Given the description of an element on the screen output the (x, y) to click on. 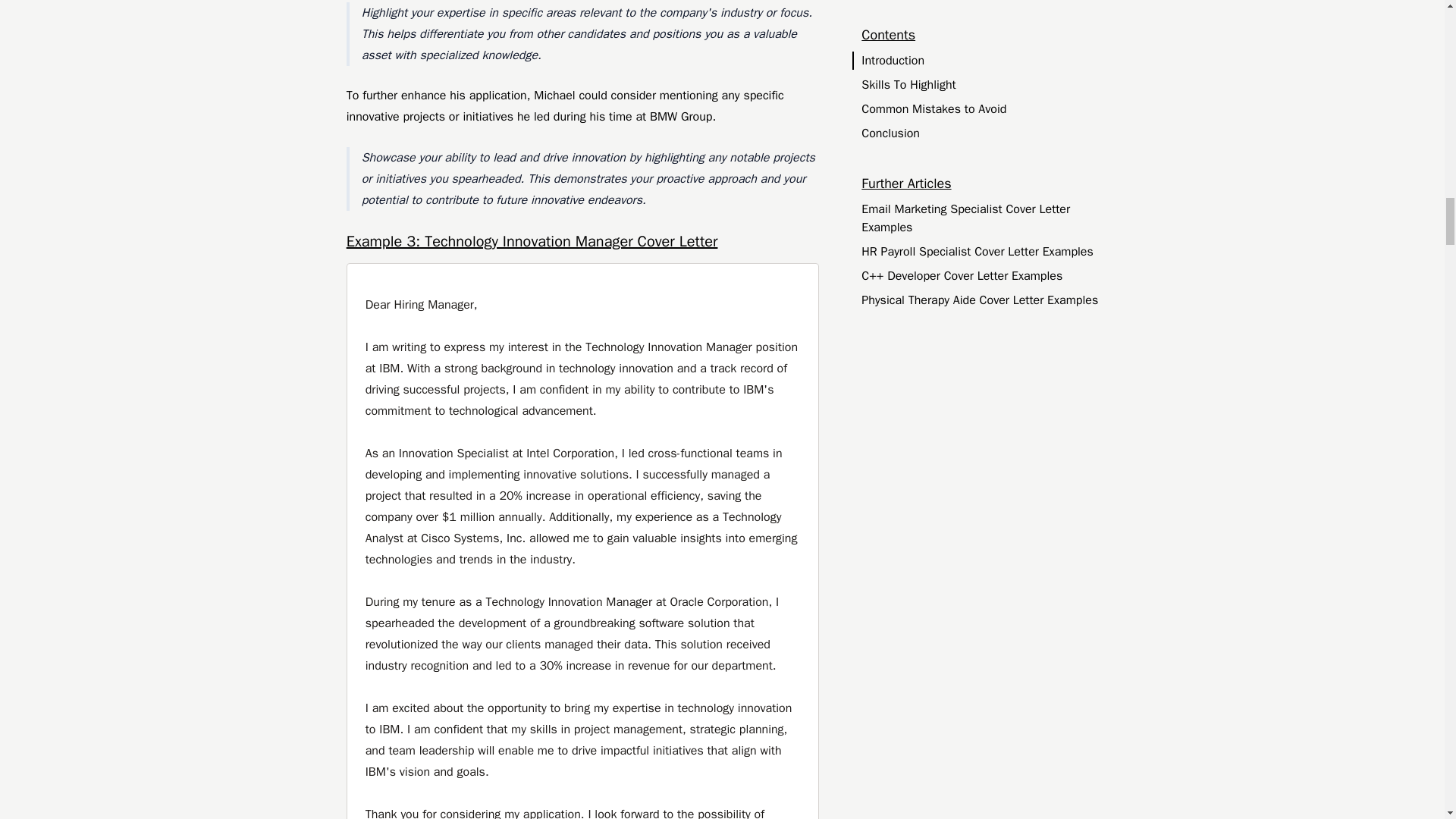
Example 3: Technology Innovation Manager Cover Letter (582, 241)
